Given the description of an element on the screen output the (x, y) to click on. 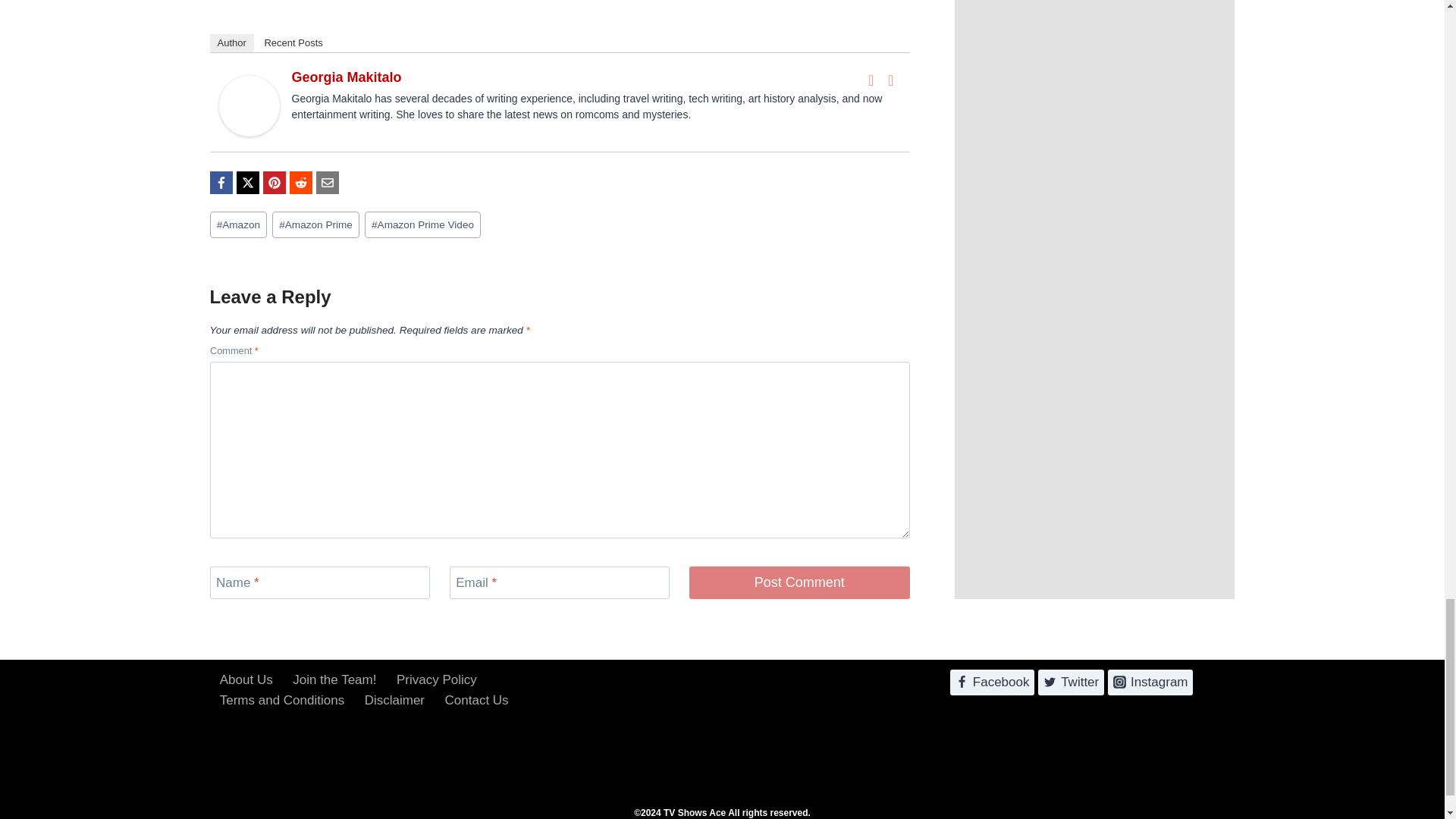
Twitter (890, 80)
Amazon Prime Video (422, 224)
Post Comment (799, 582)
Georgia Makitalo (248, 106)
Georgia Makitalo (346, 77)
Author (231, 43)
Amazon (237, 224)
Amazon Prime (315, 224)
Recent Posts (293, 43)
Facebook (870, 80)
